Given the description of an element on the screen output the (x, y) to click on. 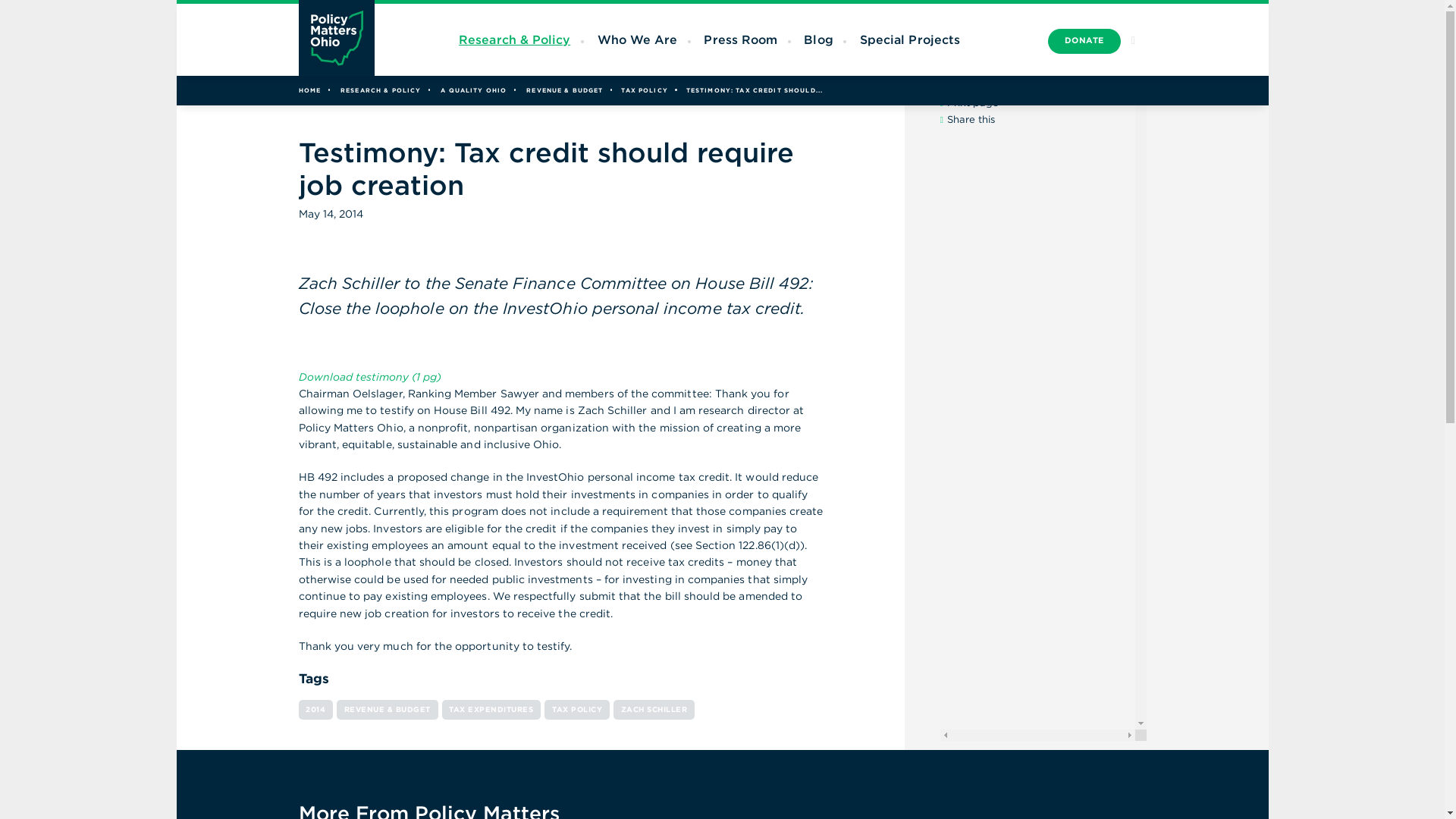
Blog (817, 39)
Who We Are (637, 39)
Press Room (740, 39)
Who We Are (637, 39)
DONATE (1084, 41)
Press Room (740, 39)
Special Projects (909, 39)
